Given the description of an element on the screen output the (x, y) to click on. 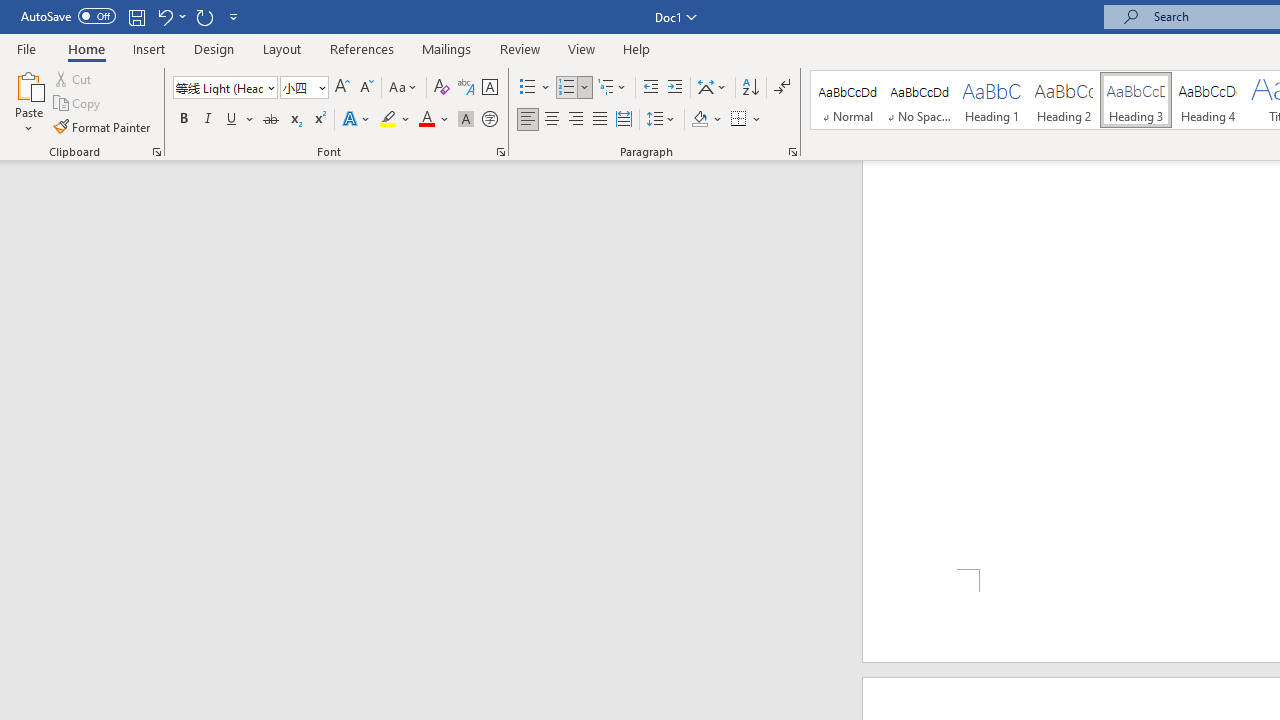
Undo Number Default (170, 15)
Undo Number Default (164, 15)
Font Color Blue-Gray, Text 2 (426, 119)
